Given the description of an element on the screen output the (x, y) to click on. 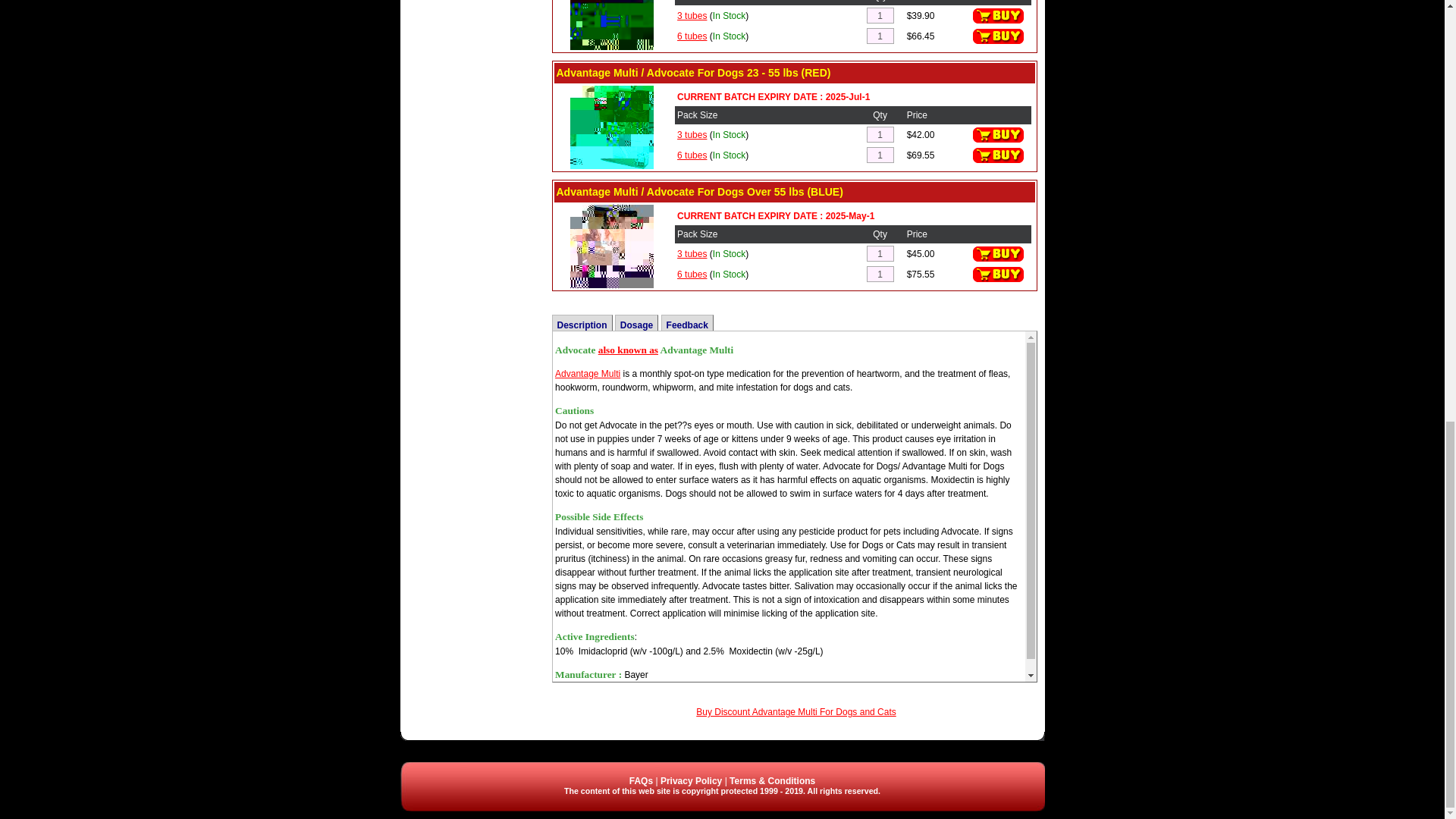
1 (879, 253)
1 (879, 154)
1 (879, 35)
1 (879, 15)
1 (879, 134)
1 (879, 273)
6 tubes (691, 35)
3 tubes (691, 15)
